Given the description of an element on the screen output the (x, y) to click on. 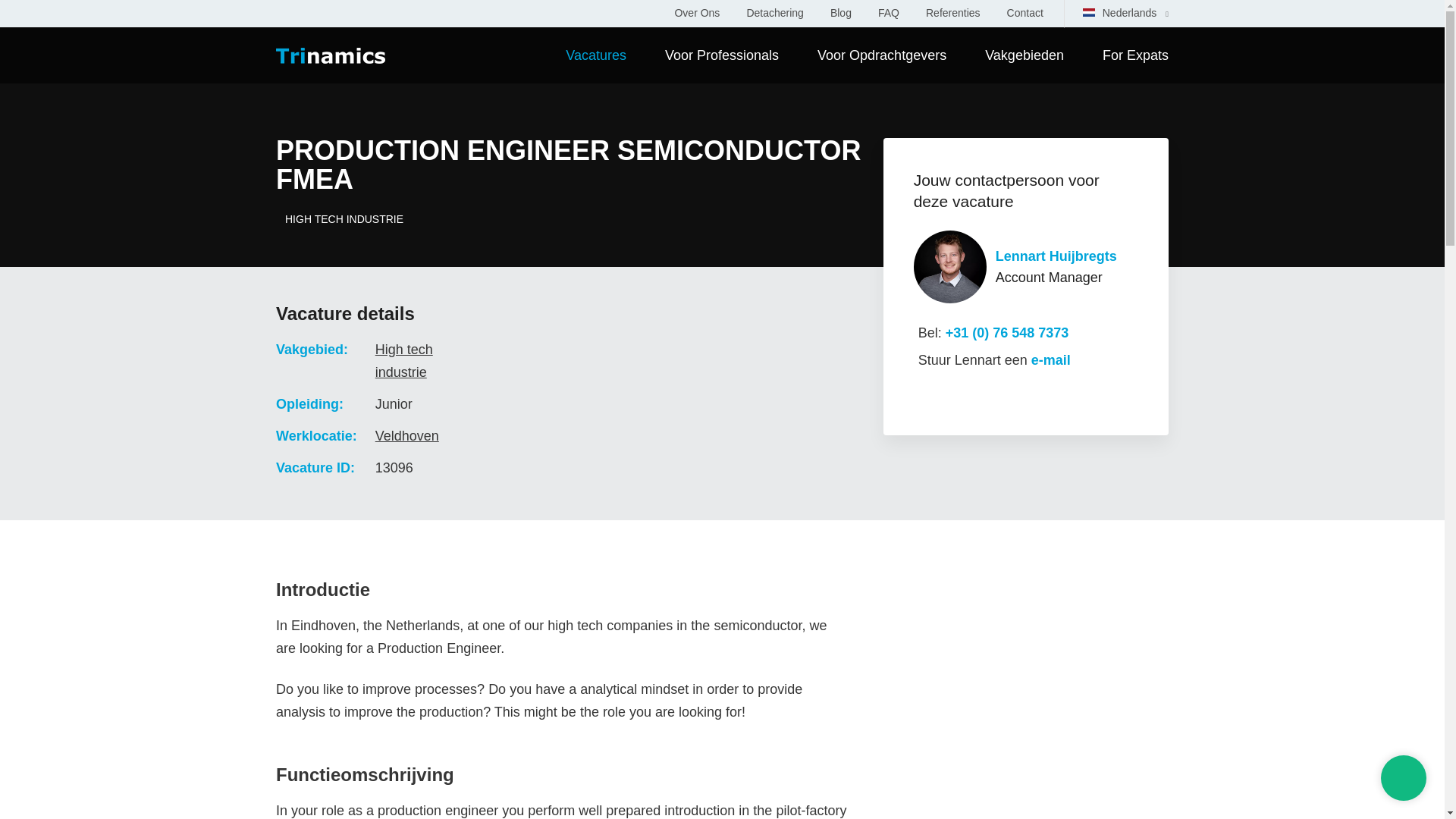
Vakgebieden (1024, 55)
HIGH TECH INDUSTRIE (570, 219)
Voor Opdrachtgevers (881, 55)
Veldhoven (407, 435)
Referenties (952, 12)
Voor Professionals (721, 55)
Contact (1025, 12)
Vakgebieden (1024, 55)
For Expats (1135, 55)
Blog (840, 12)
Over Ons (696, 12)
Voor Professionals (721, 55)
FAQ (888, 12)
For Expats (1135, 55)
Vacatures (596, 55)
